Given the description of an element on the screen output the (x, y) to click on. 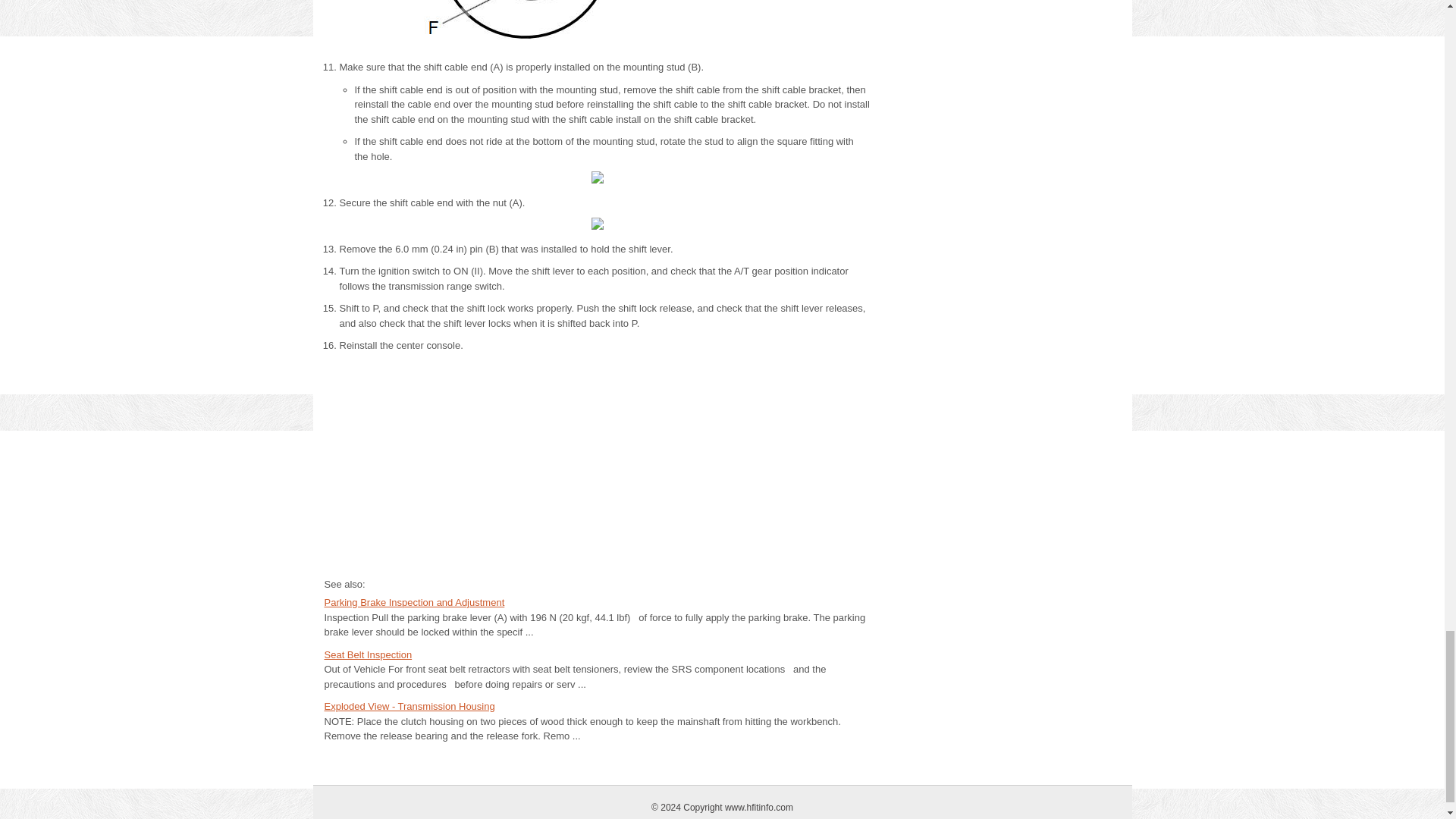
Seat Belt Inspection (368, 654)
Parking Brake Inspection and Adjustment (414, 602)
Exploded View - Transmission Housing (409, 706)
